Given the description of an element on the screen output the (x, y) to click on. 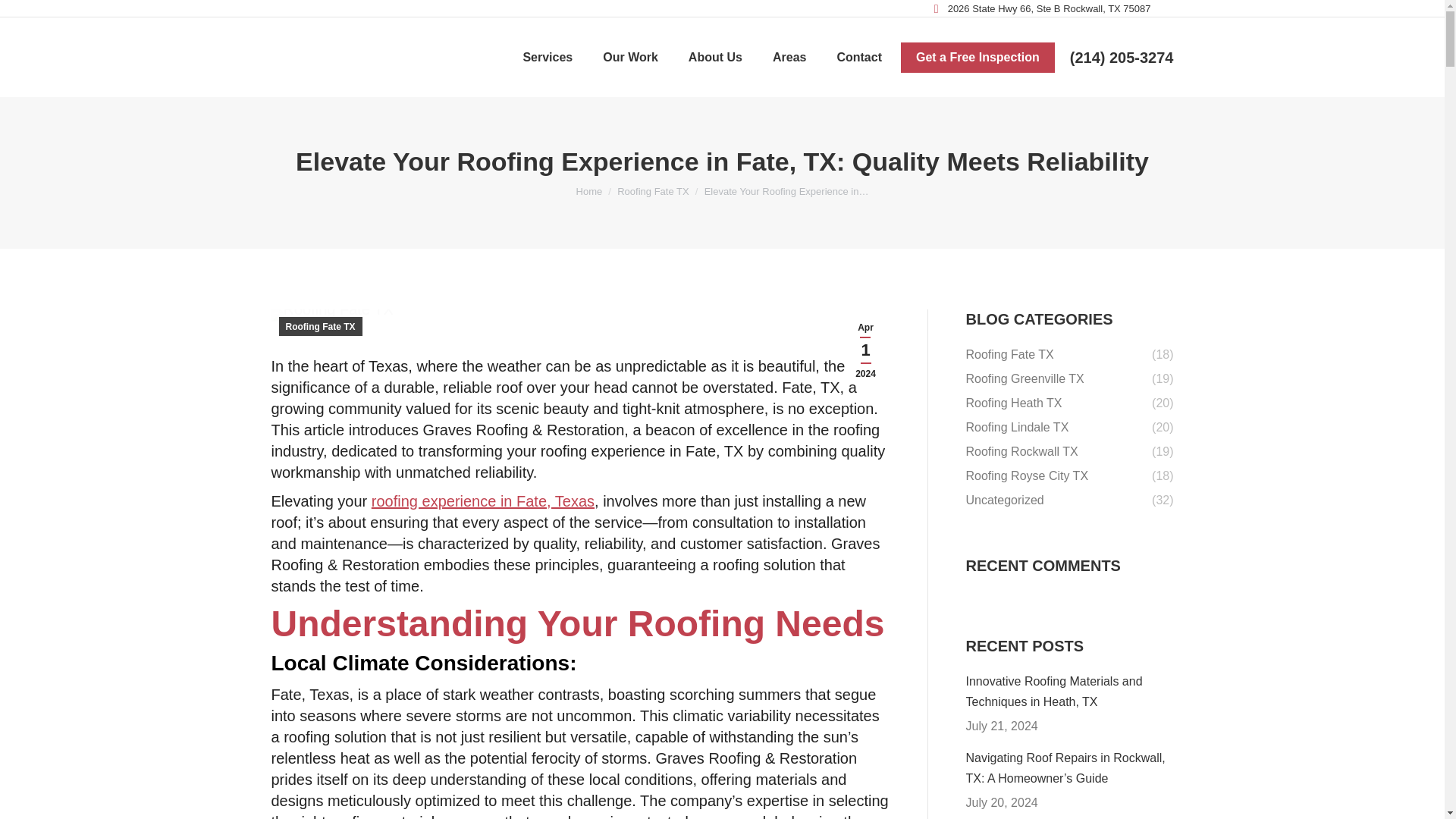
Home (589, 191)
Services (547, 56)
Our Work (630, 56)
Roofing Fate TX (652, 191)
Contact (858, 56)
Get a Free Inspection (977, 57)
Roofing Fate TX (331, 315)
2026 State Hwy 66, Ste B Rockwall, TX 75087 (1039, 8)
Areas (789, 56)
About Us (715, 56)
